Given the description of an element on the screen output the (x, y) to click on. 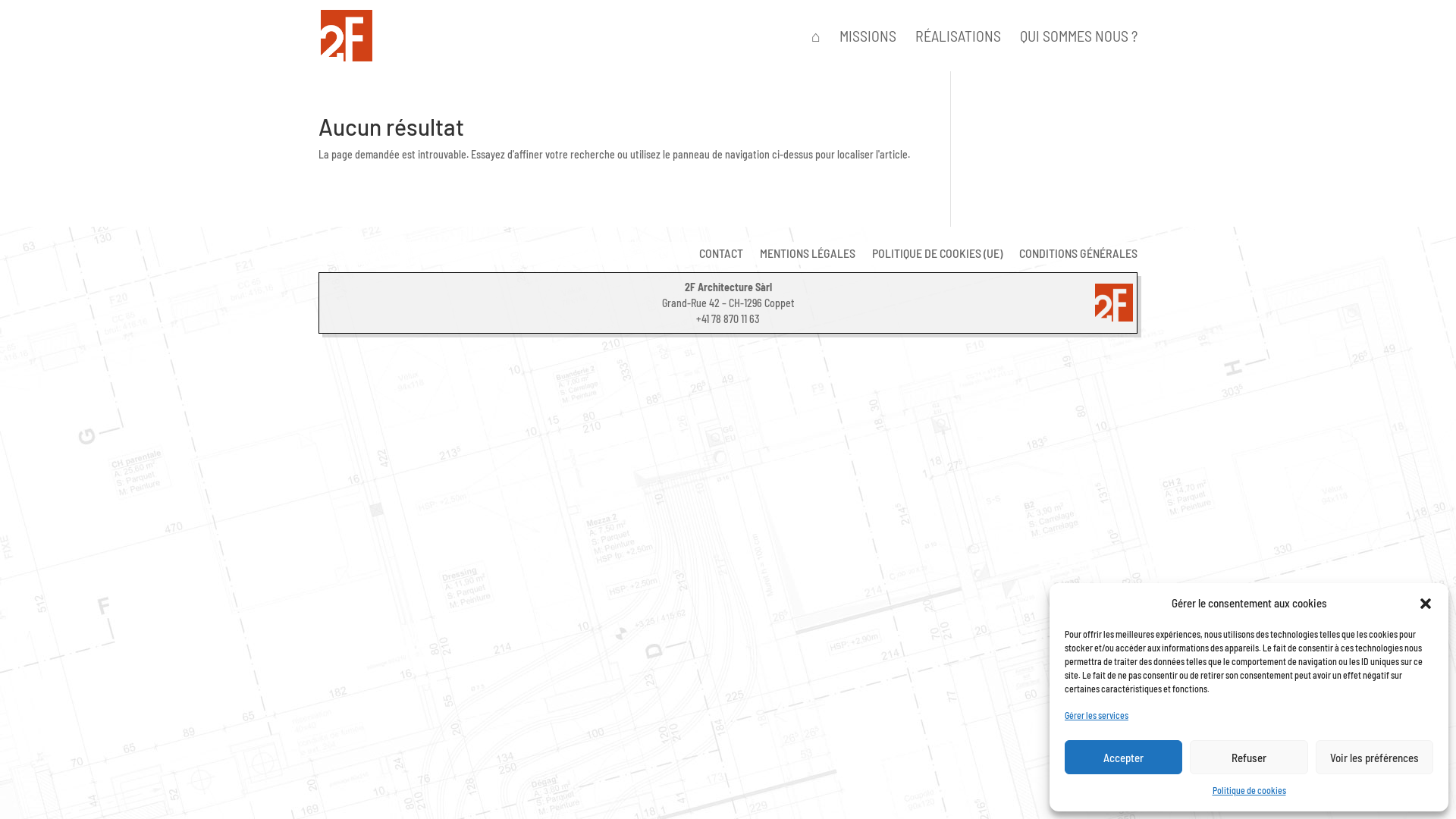
CONTACT Element type: text (721, 255)
Accepter Element type: text (1123, 757)
POLITIQUE DE COOKIES (UE) Element type: text (937, 255)
Refuser Element type: text (1248, 757)
Politique de cookies Element type: text (1248, 790)
QUI SOMMES NOUS ? Element type: text (1078, 50)
MISSIONS Element type: text (867, 50)
